Given the description of an element on the screen output the (x, y) to click on. 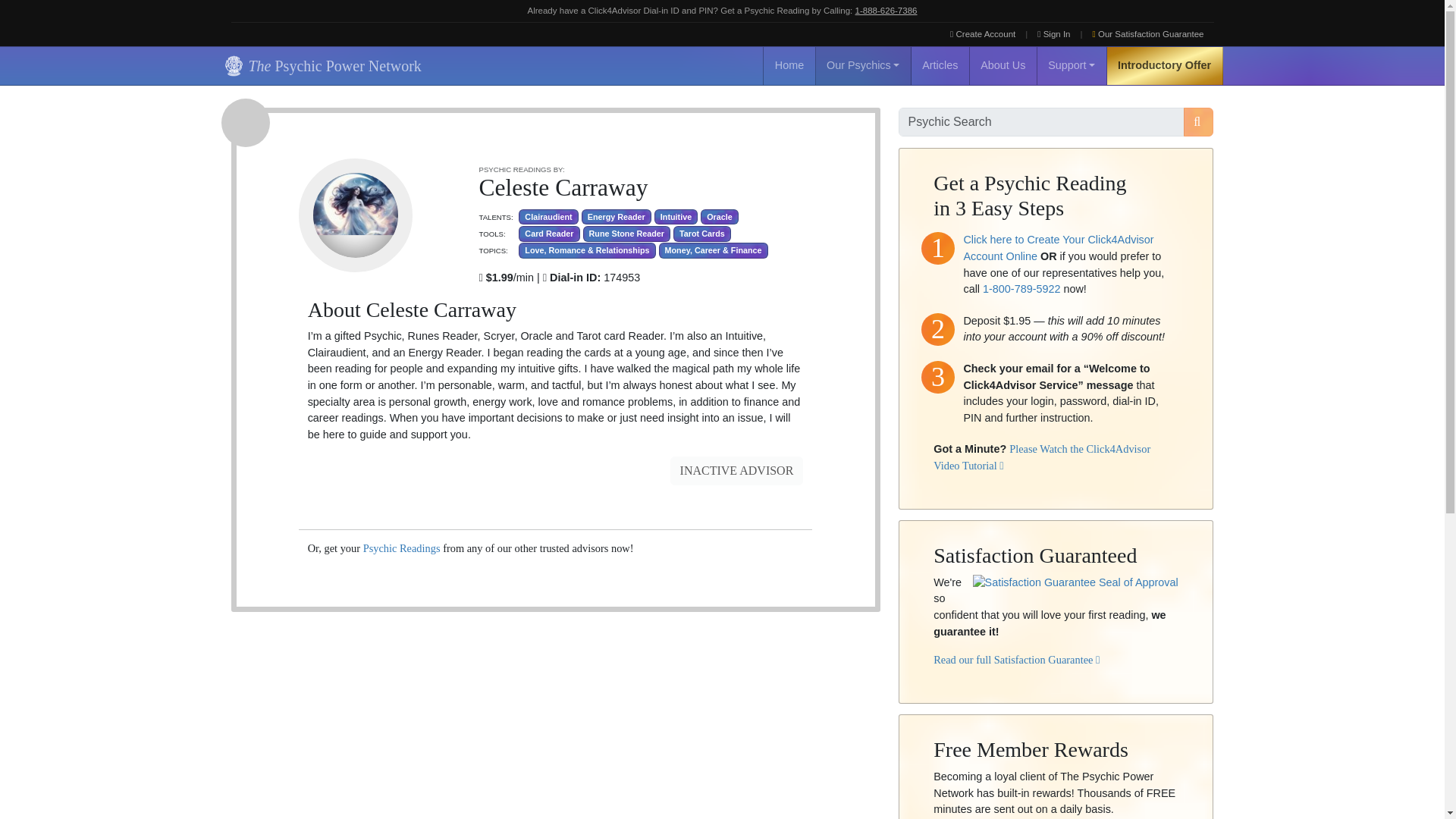
Oracle (719, 216)
Psychic Readings (401, 548)
Tarot Cards (701, 233)
Clairaudient (548, 216)
Intuitive (675, 216)
Energy Reader (615, 216)
The Psychic Power Network (320, 65)
Sign In (1053, 33)
Card Reader (548, 233)
Our Satisfaction Guarantee (1148, 33)
